Given the description of an element on the screen output the (x, y) to click on. 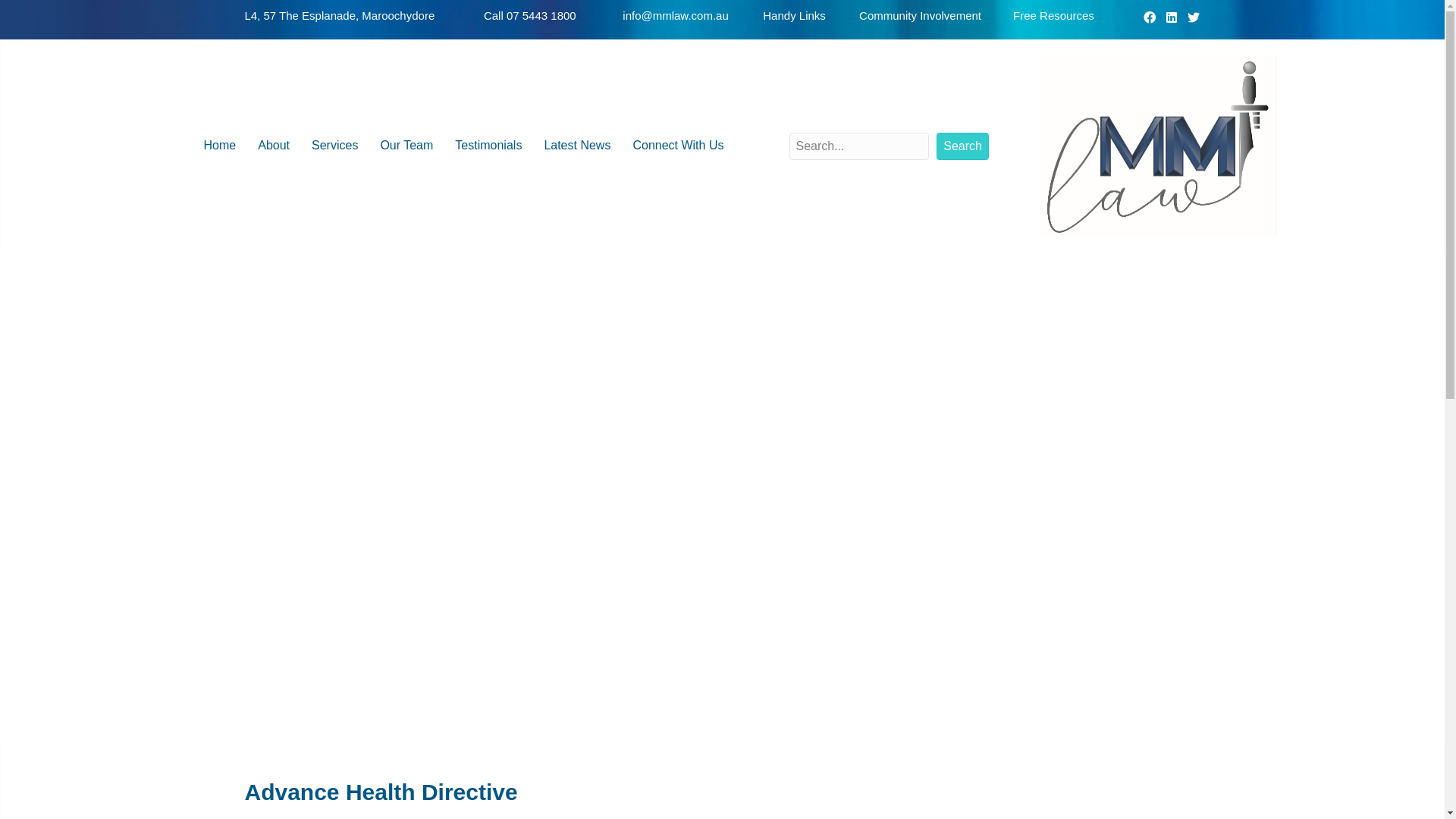
Free Resources Element type: text (1053, 15)
image003 Element type: hover (1157, 146)
Services Element type: text (334, 145)
Call Element type: text (494, 15)
Home Element type: text (220, 145)
Latest News Element type: text (577, 145)
Community Involvement Element type: text (920, 15)
Testimonials Element type: text (488, 145)
info@mmlaw.com.au Element type: text (675, 15)
Search Element type: text (962, 146)
07 5443 1800 Element type: text (541, 15)
About Element type: text (273, 145)
Connect With Us Element type: text (677, 145)
Handy Links Element type: text (793, 15)
Our Team Element type: text (406, 145)
